Given the description of an element on the screen output the (x, y) to click on. 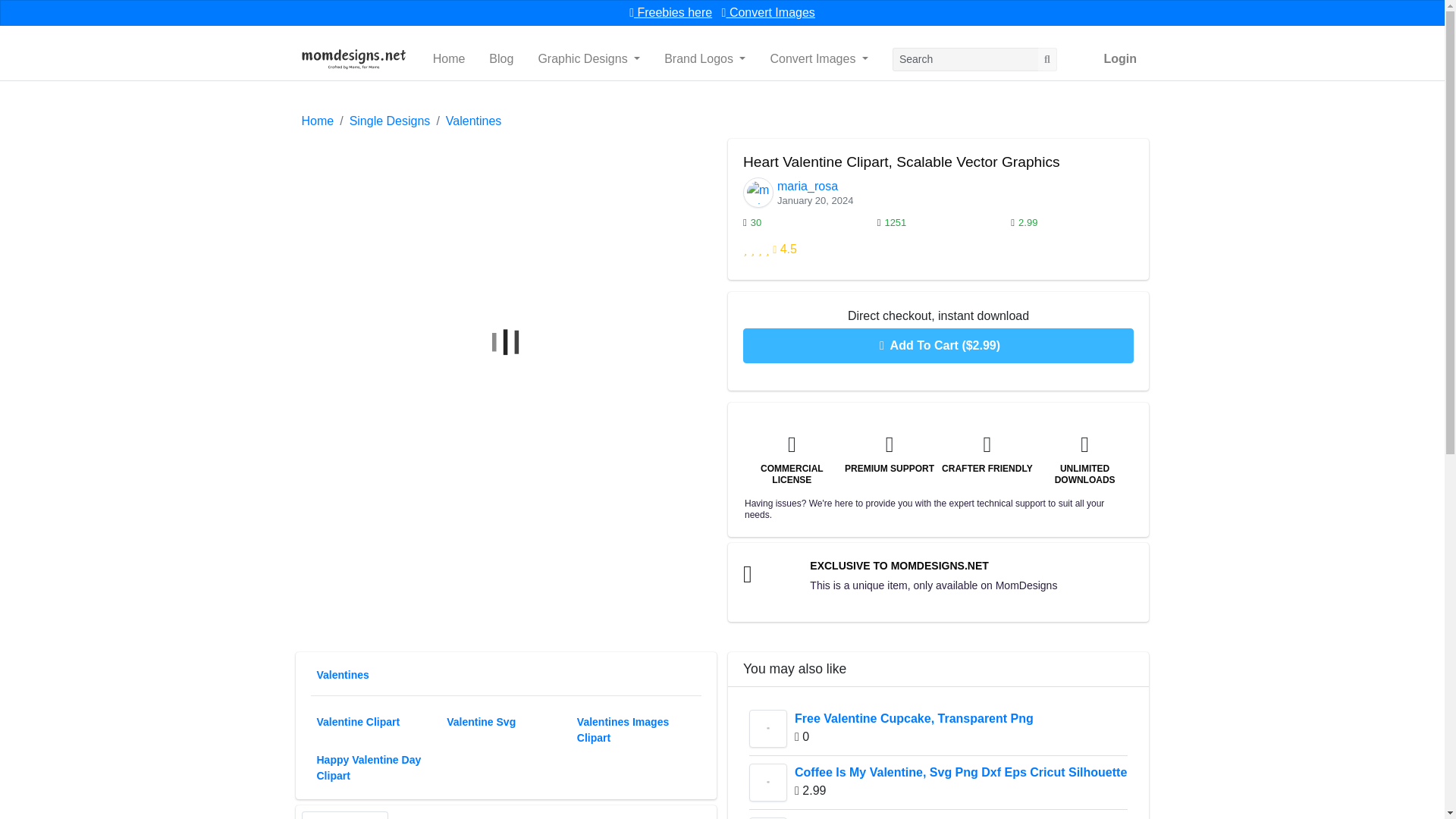
Freebies here (669, 11)
Heart Valentine Clipart, Scalable Vector Graphics (768, 818)
Graphic Designs (588, 59)
Coffee Is My Valentine, Svg Png Dxf Eps Cricut Silhouette (768, 782)
Home (448, 59)
Free Valentine Cupcake, Transparent Png (768, 728)
Blog (501, 59)
Convert Images (768, 11)
